Given the description of an element on the screen output the (x, y) to click on. 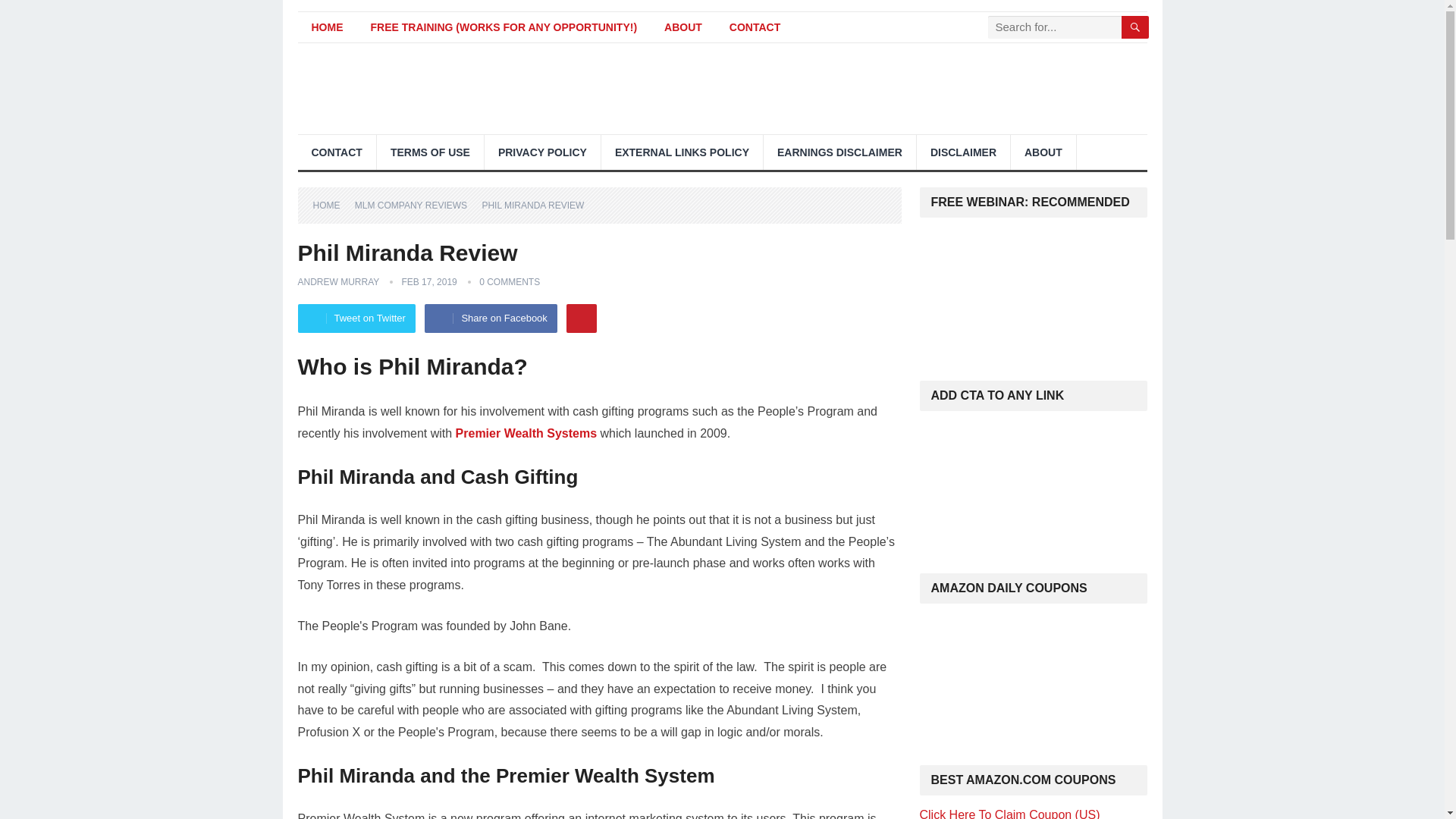
HOME (331, 204)
CONTACT (754, 27)
EARNINGS DISCLAIMER (838, 152)
ABOUT (1042, 152)
DISCLAIMER (963, 152)
0 COMMENTS (509, 281)
TERMS OF USE (430, 152)
Share on Facebook (490, 317)
MLM COMPANY REVIEWS (416, 204)
Tweet on Twitter (355, 317)
